Given the description of an element on the screen output the (x, y) to click on. 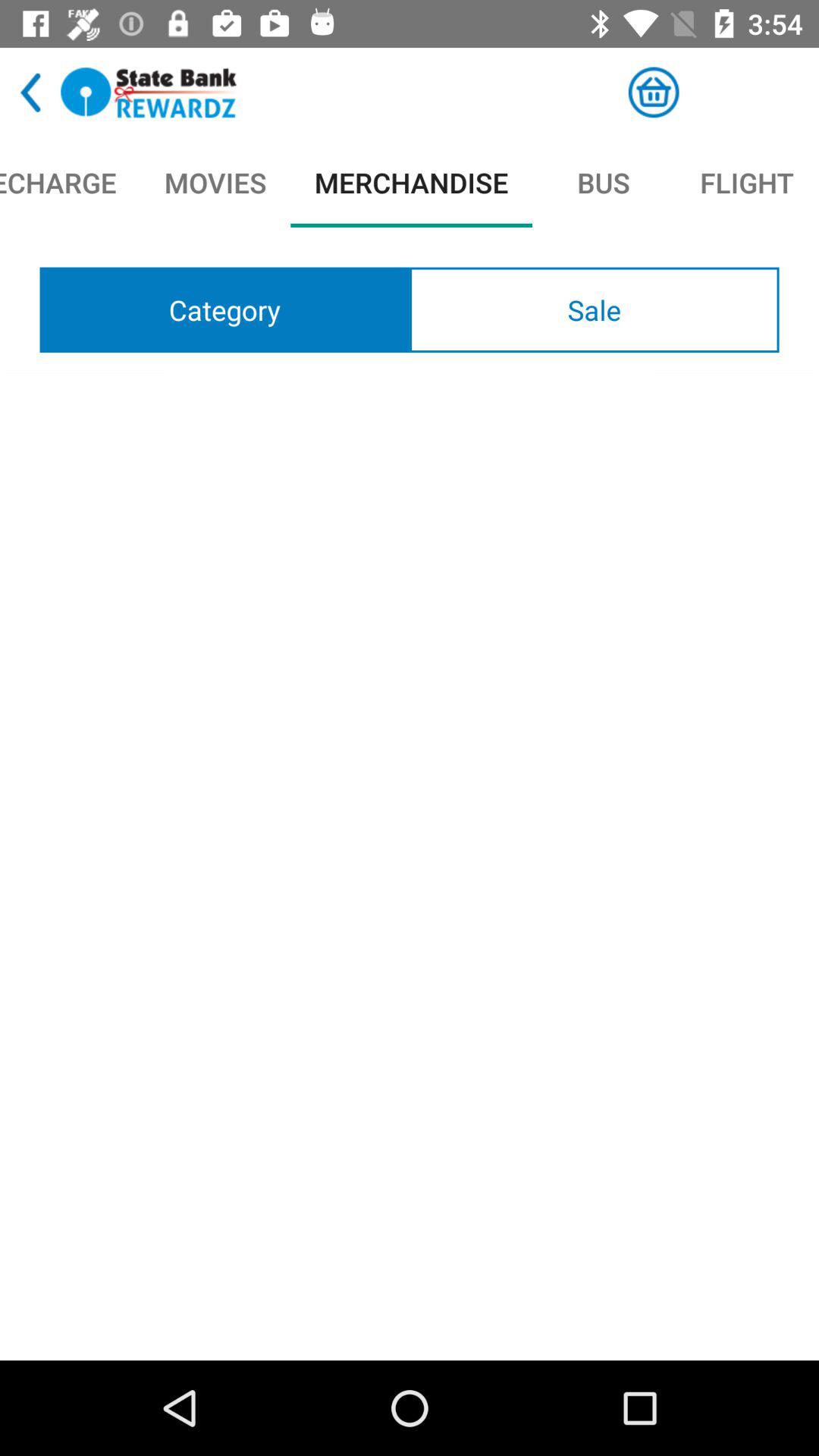
go to rewards program (148, 92)
